Given the description of an element on the screen output the (x, y) to click on. 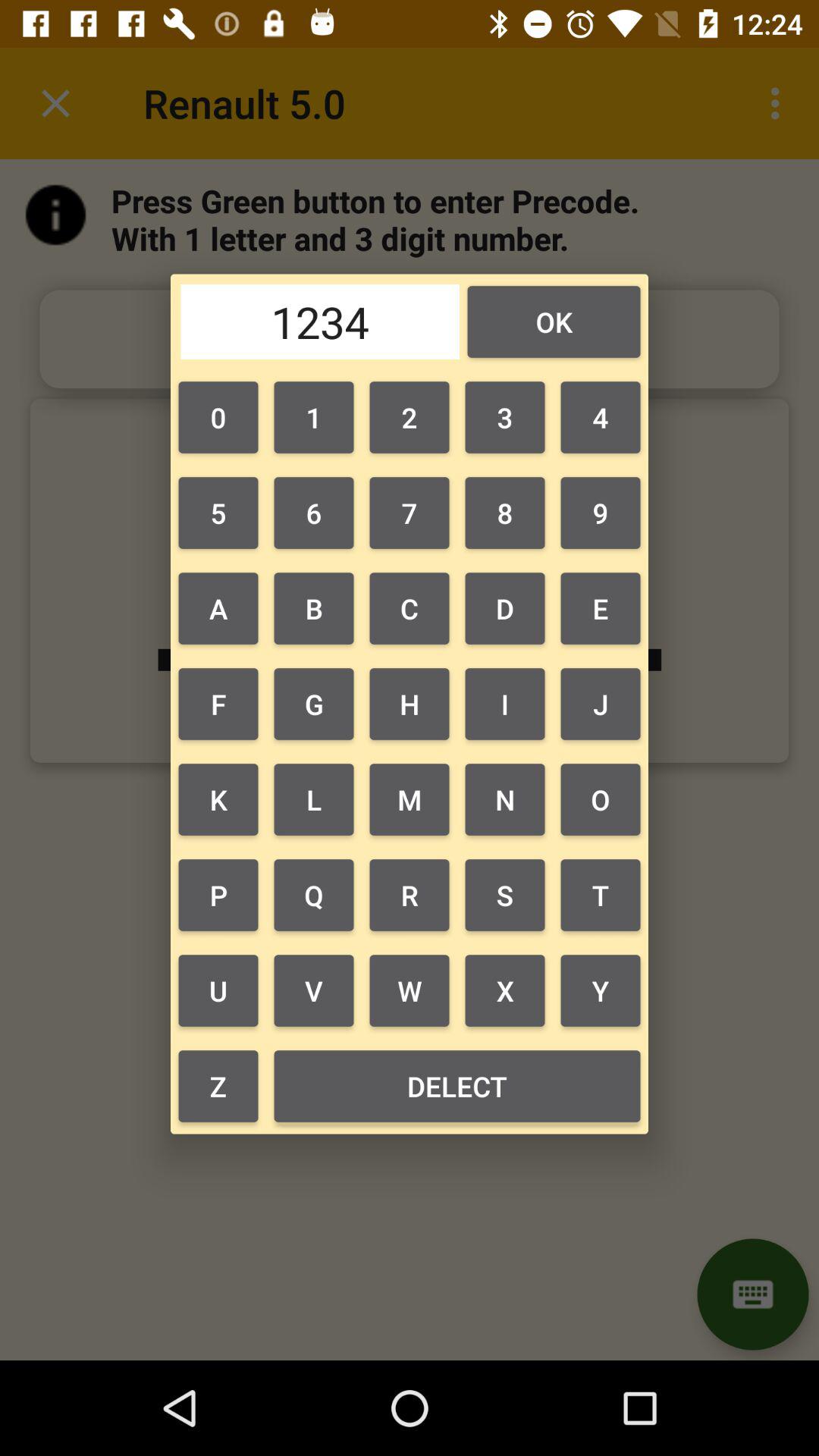
open the item to the left of 8 (409, 608)
